Given the description of an element on the screen output the (x, y) to click on. 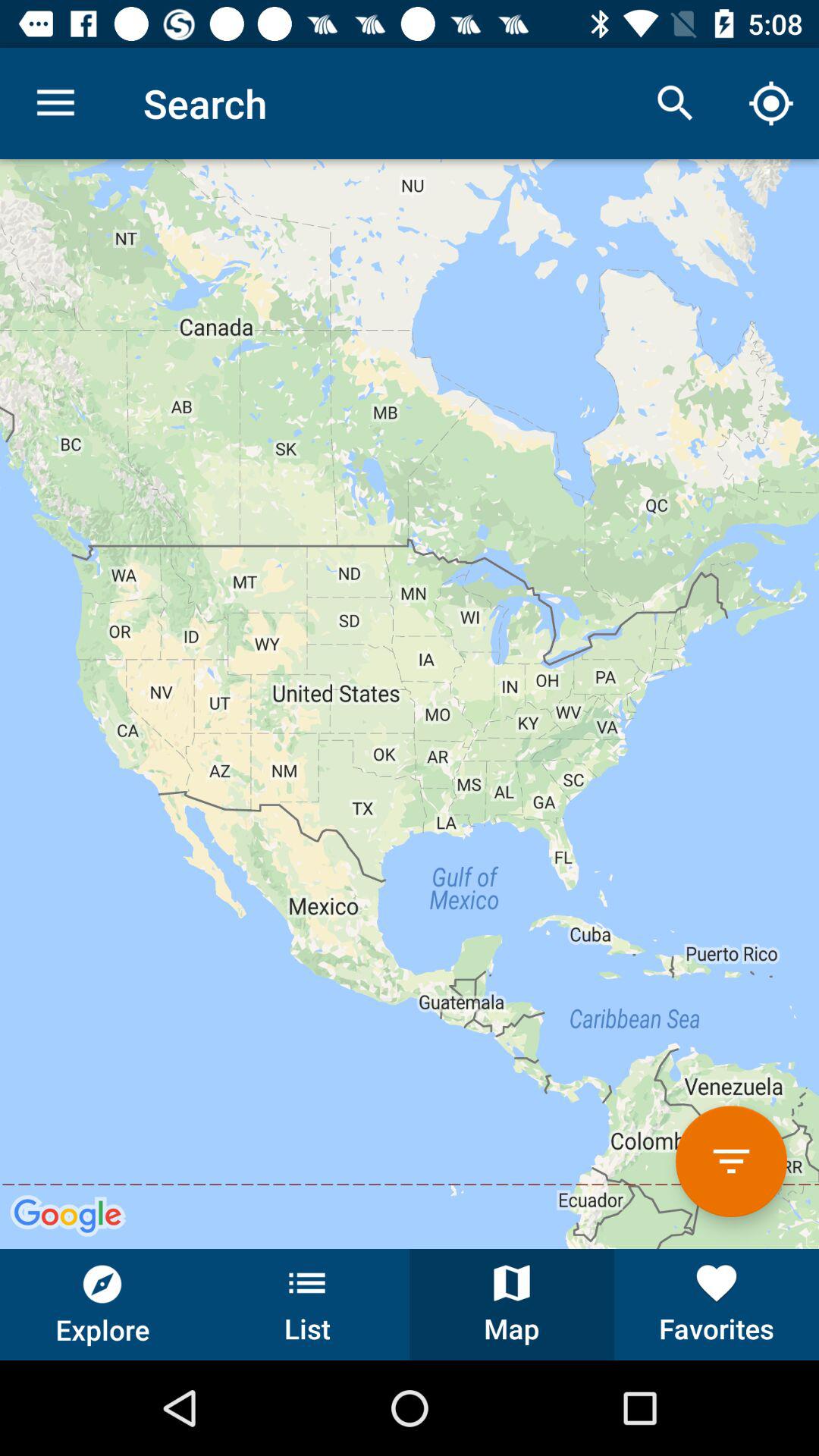
choose button above the explore button (409, 703)
